Given the description of an element on the screen output the (x, y) to click on. 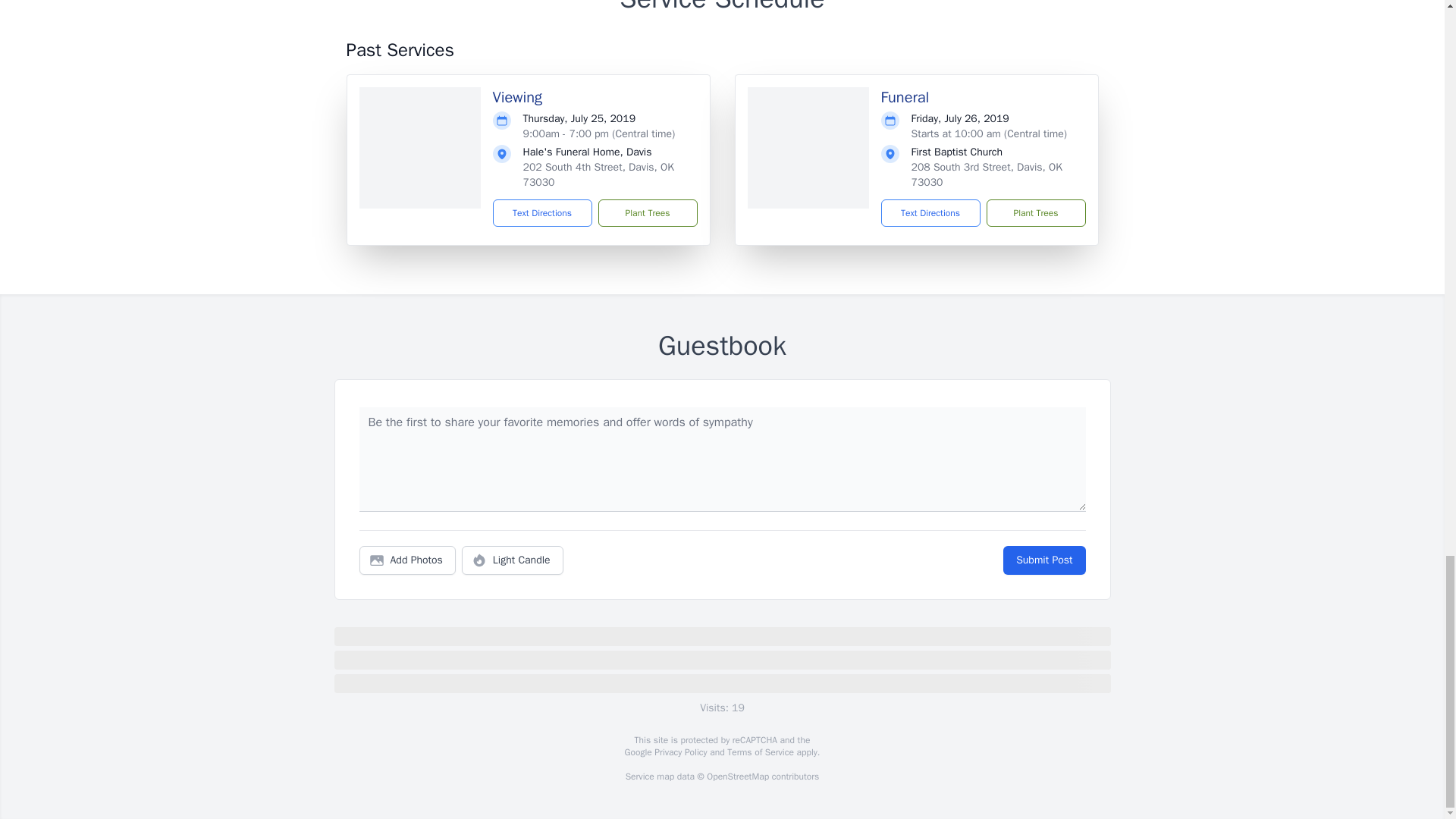
OpenStreetMap (737, 776)
Plant Trees (1034, 212)
Terms of Service (759, 752)
Submit Post (1043, 560)
Text Directions (929, 212)
208 South 3rd Street, Davis, OK 73030 (986, 174)
Add Photos (407, 560)
Light Candle (512, 560)
Text Directions (542, 212)
Plant Trees (646, 212)
